Given the description of an element on the screen output the (x, y) to click on. 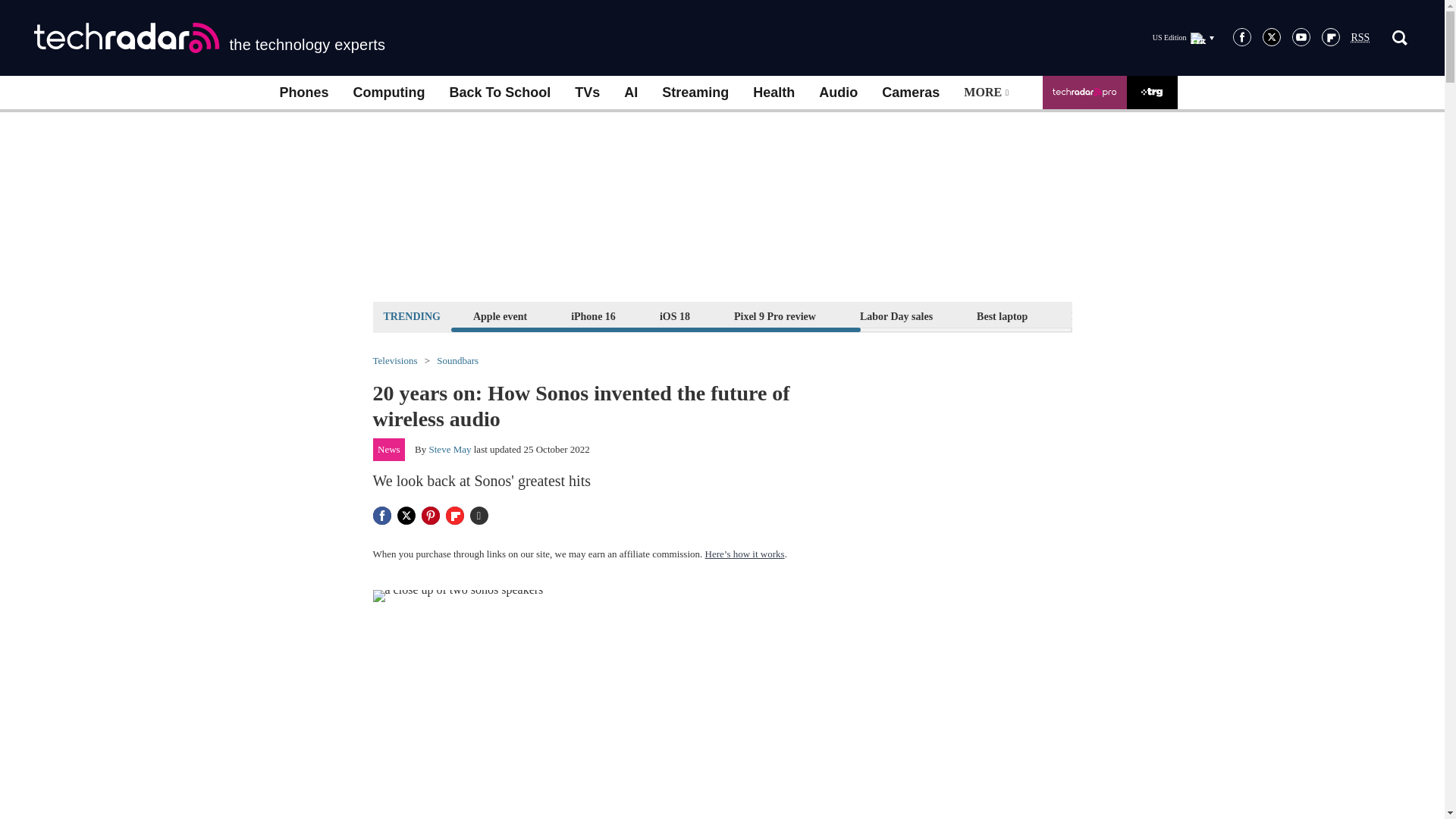
Back To School (499, 92)
Computing (389, 92)
US Edition (1182, 37)
TVs (586, 92)
Cameras (910, 92)
Phones (303, 92)
Streaming (695, 92)
Health (773, 92)
AI (630, 92)
the technology experts (209, 38)
